Given the description of an element on the screen output the (x, y) to click on. 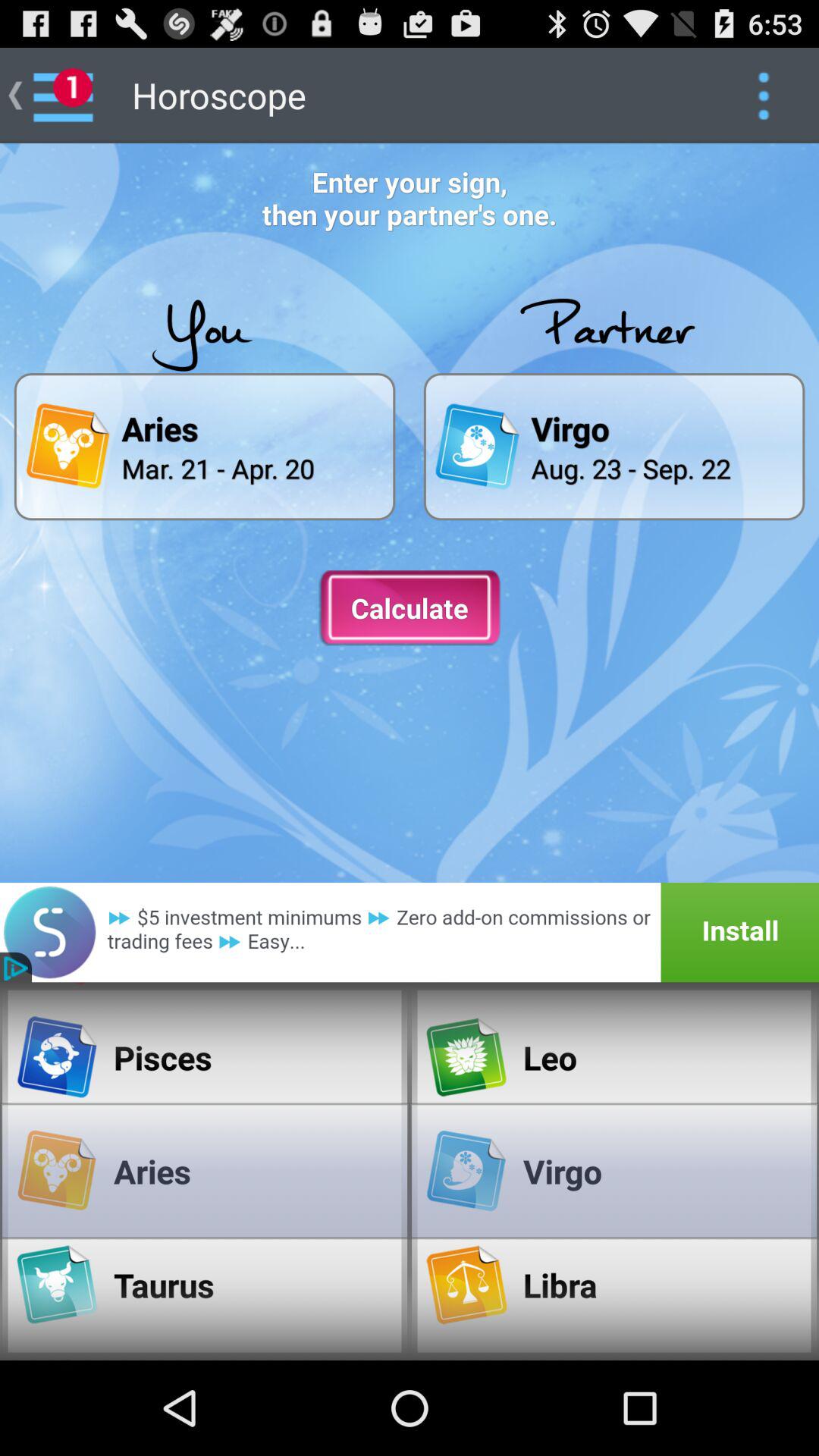
select the item to the right of the horoscope item (763, 95)
